Given the description of an element on the screen output the (x, y) to click on. 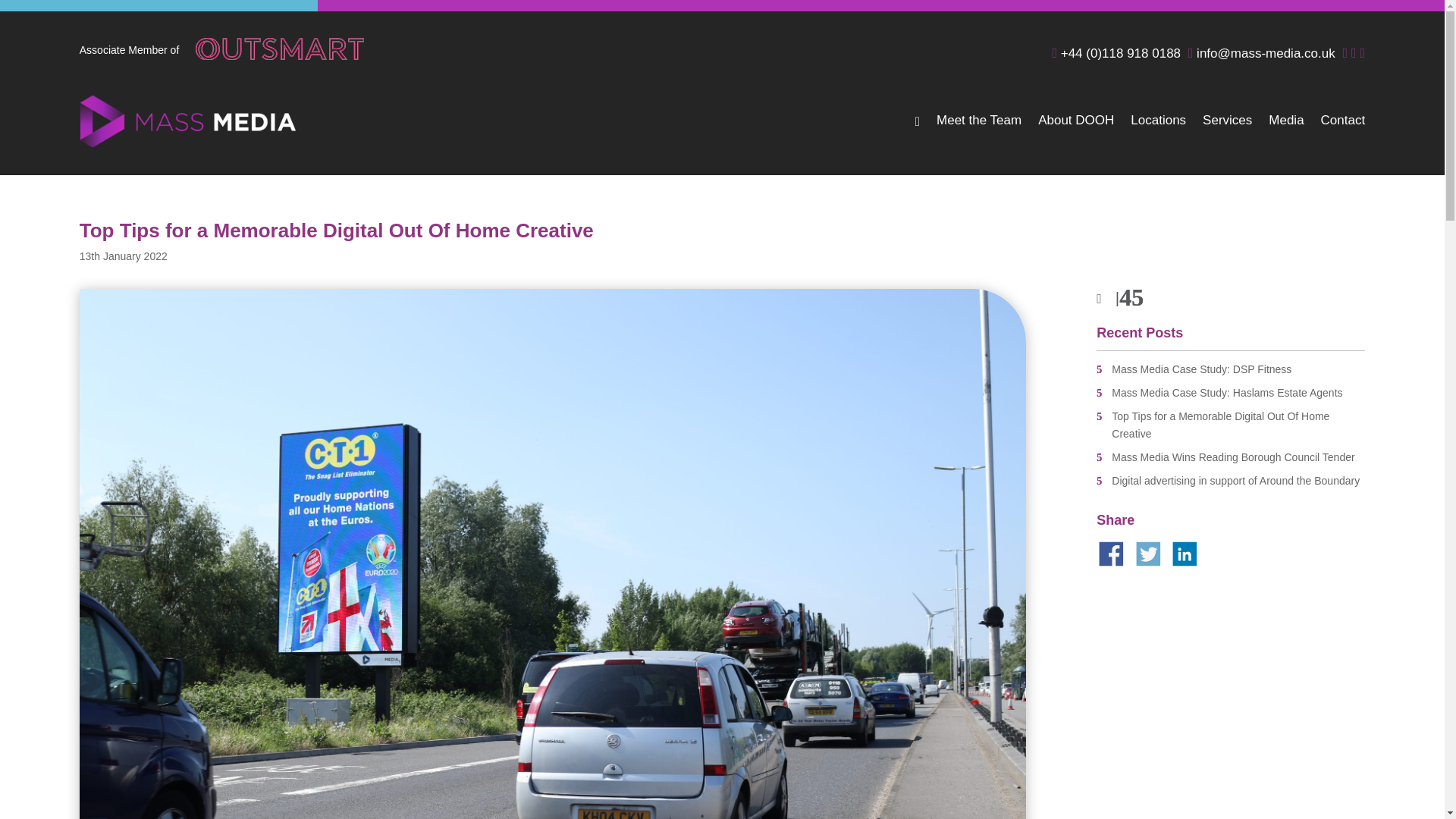
Media (1285, 131)
Top Tips for a Memorable Digital Out Of Home Creative (1230, 425)
About DOOH (1075, 131)
Mass Media Wins Reading Borough Council Tender (1230, 457)
Services (1227, 131)
Mass Media Case Study: DSP Fitness (1230, 370)
Meet the Team (979, 131)
Locations (1158, 131)
Digital advertising in support of Around the Boundary (1230, 481)
Contact (1342, 131)
Mass Media Case Study: Haslams Estate Agents (1230, 393)
